Given the description of an element on the screen output the (x, y) to click on. 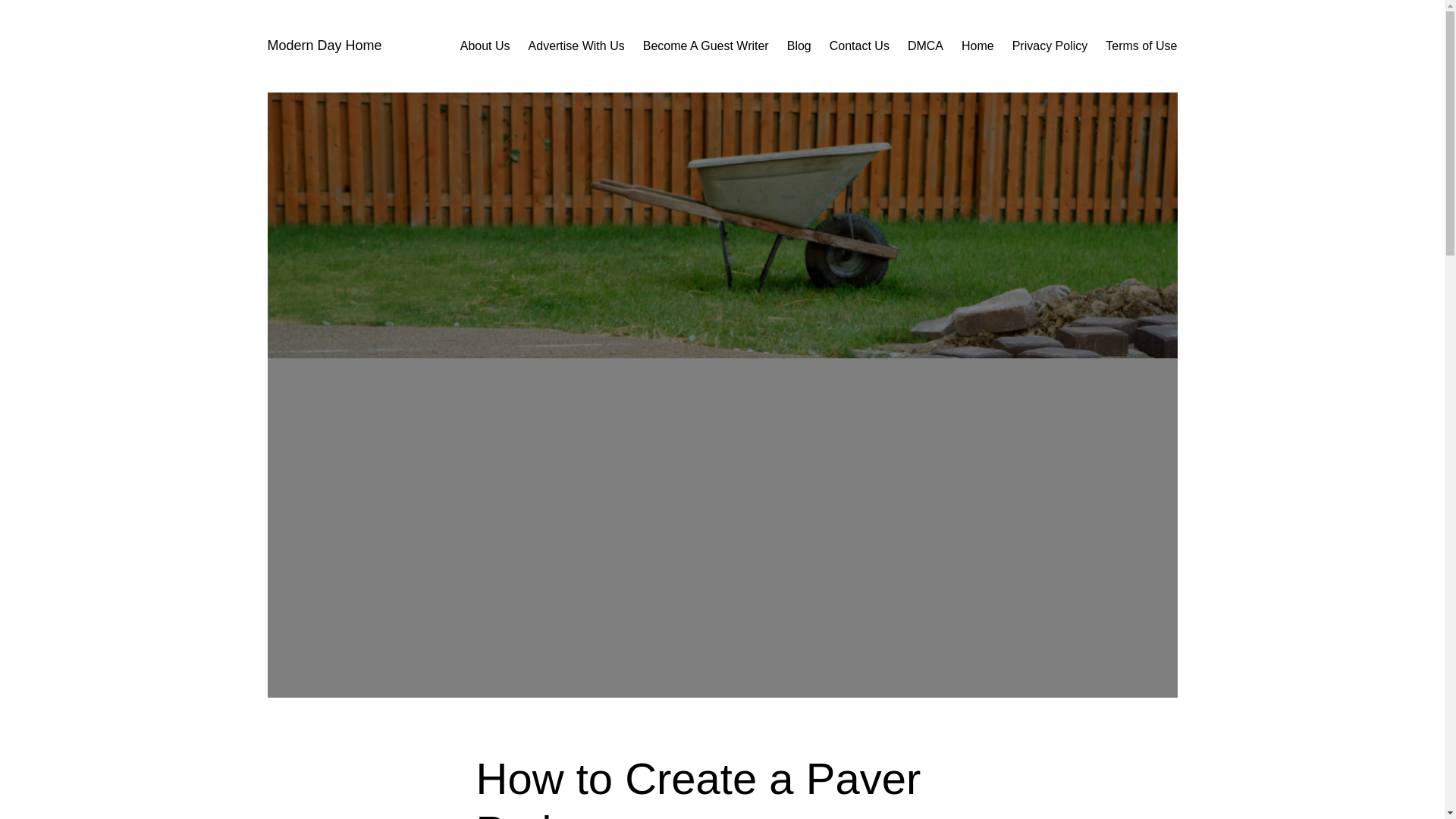
Advertise With Us (576, 46)
Privacy Policy (1049, 46)
Become A Guest Writer (705, 46)
Contact Us (859, 46)
About Us (485, 46)
DMCA (925, 46)
Terms of Use (1140, 46)
Home (977, 46)
Modern Day Home (323, 45)
Blog (798, 46)
